Given the description of an element on the screen output the (x, y) to click on. 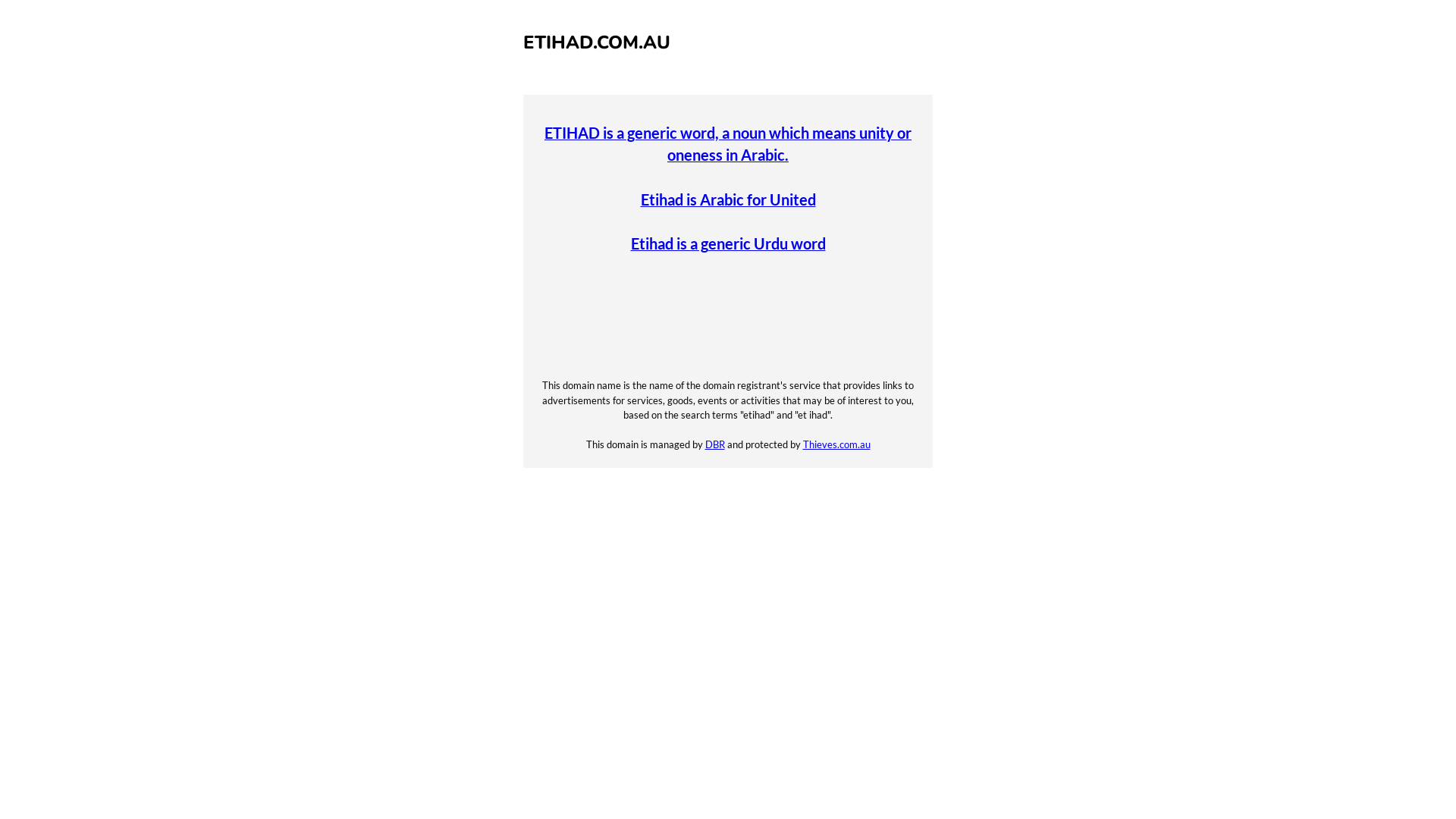
Thieves.com.au Element type: text (835, 444)
DBR Element type: text (714, 444)
Etihad is Arabic for United Element type: text (727, 199)
Etihad is a generic Urdu word Element type: text (727, 243)
ETIHAD.COM.AU Element type: text (596, 42)
